Given the description of an element on the screen output the (x, y) to click on. 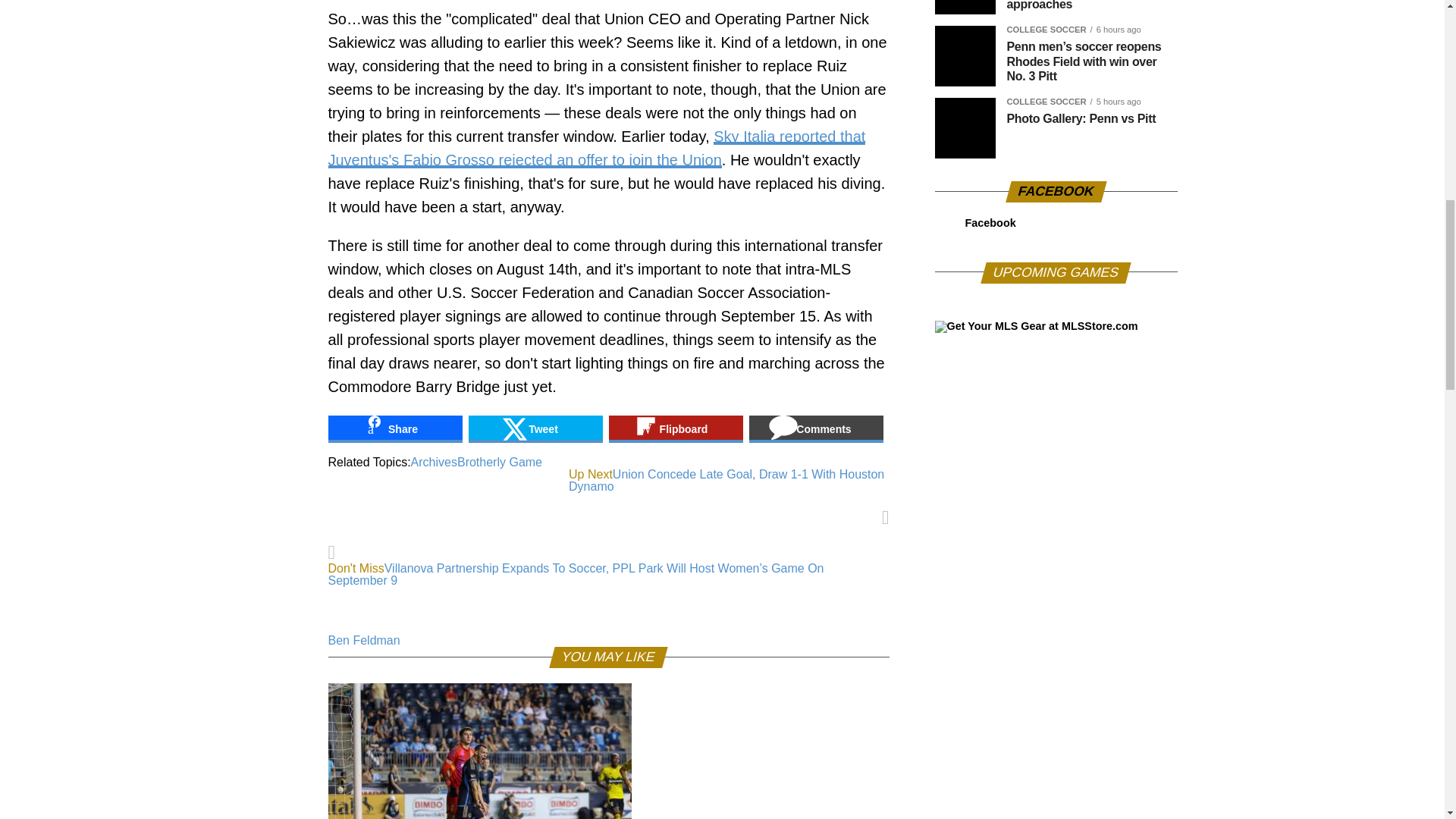
Share on Tweet (535, 429)
Share on Comments (816, 429)
Share on Share (394, 429)
Posts by Ben Feldman (362, 640)
Share on Flipboard (675, 429)
